Given the description of an element on the screen output the (x, y) to click on. 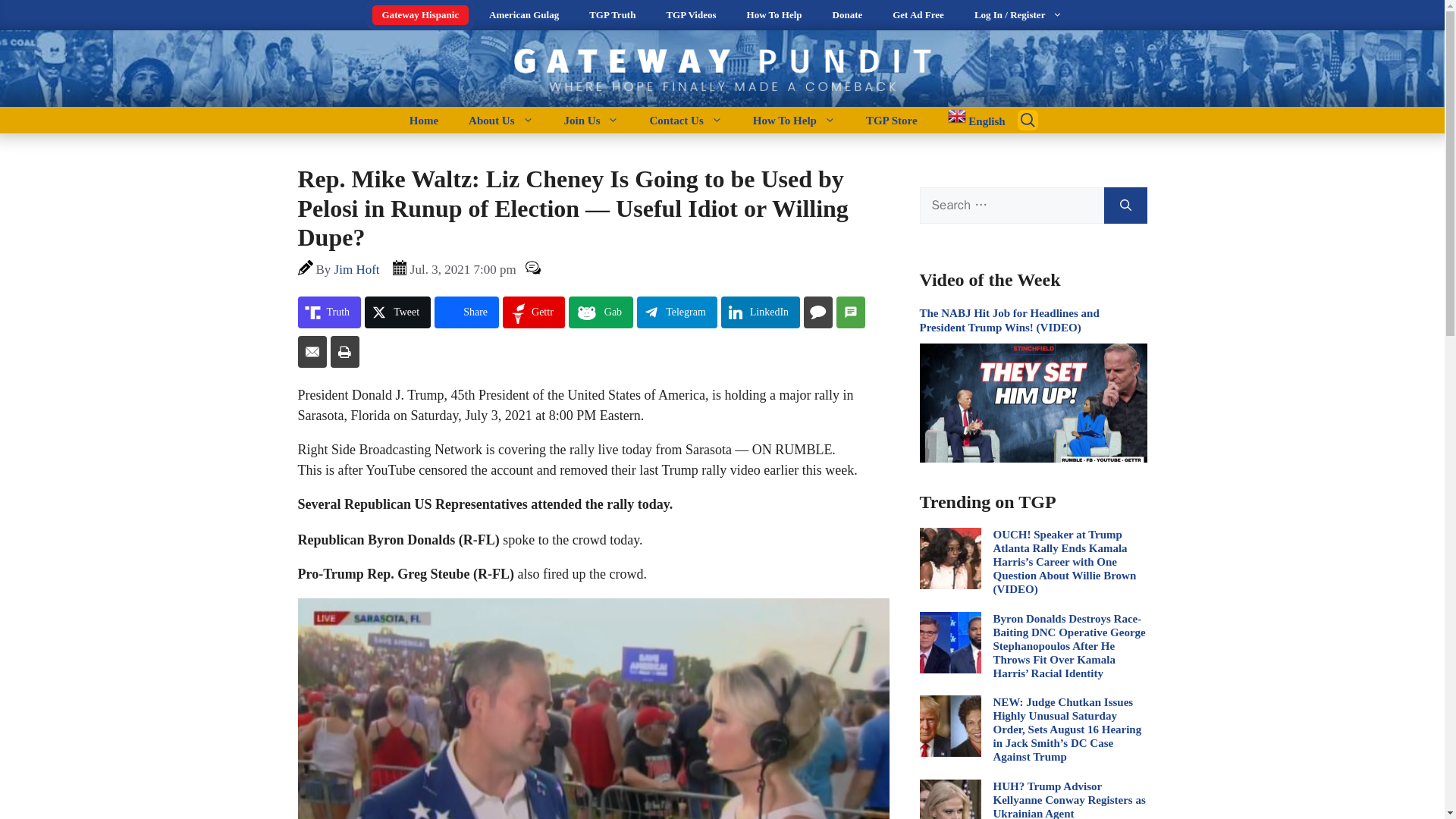
Home (423, 120)
English (969, 120)
Join Us (591, 120)
Donate (846, 15)
TGP Truth (611, 15)
American Gulag (523, 15)
Share on Share (466, 312)
TGP Videos (690, 15)
Gateway Hispanic (420, 15)
Share on LinkedIn (759, 312)
Share on Gettr (533, 312)
How To Help (794, 120)
How To Help (774, 15)
